Given the description of an element on the screen output the (x, y) to click on. 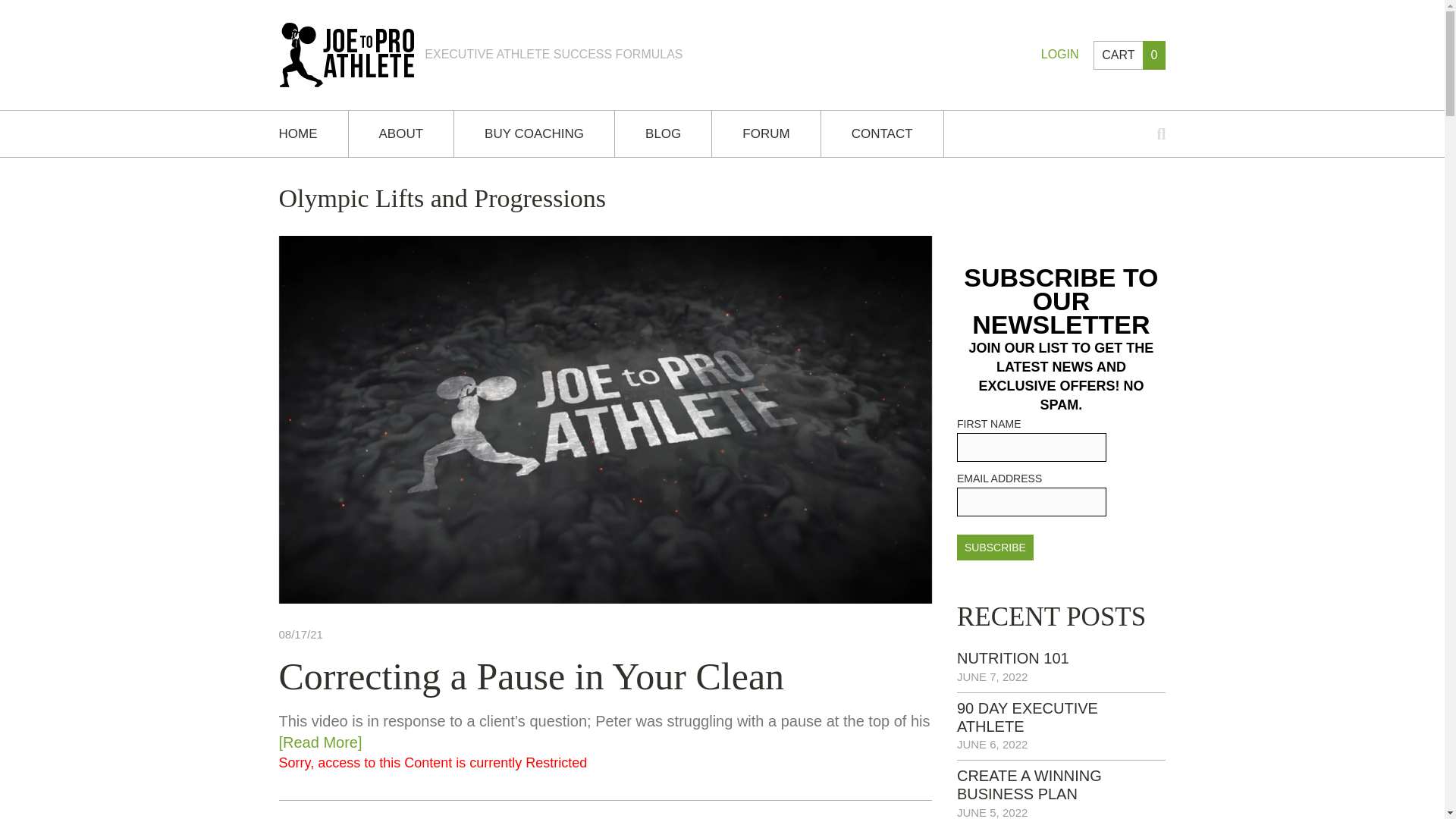
CART0 (1129, 54)
Joe to Pro Athlete (480, 53)
Subscribe (994, 547)
Correcting a Pause in Your Clean (531, 676)
BLOG (662, 133)
BUY COACHING (534, 133)
EXECUTIVE ATHLETE SUCCESS FORMULAS (480, 53)
LOGIN (1059, 53)
FORUM (765, 133)
HOME (313, 133)
